Given the description of an element on the screen output the (x, y) to click on. 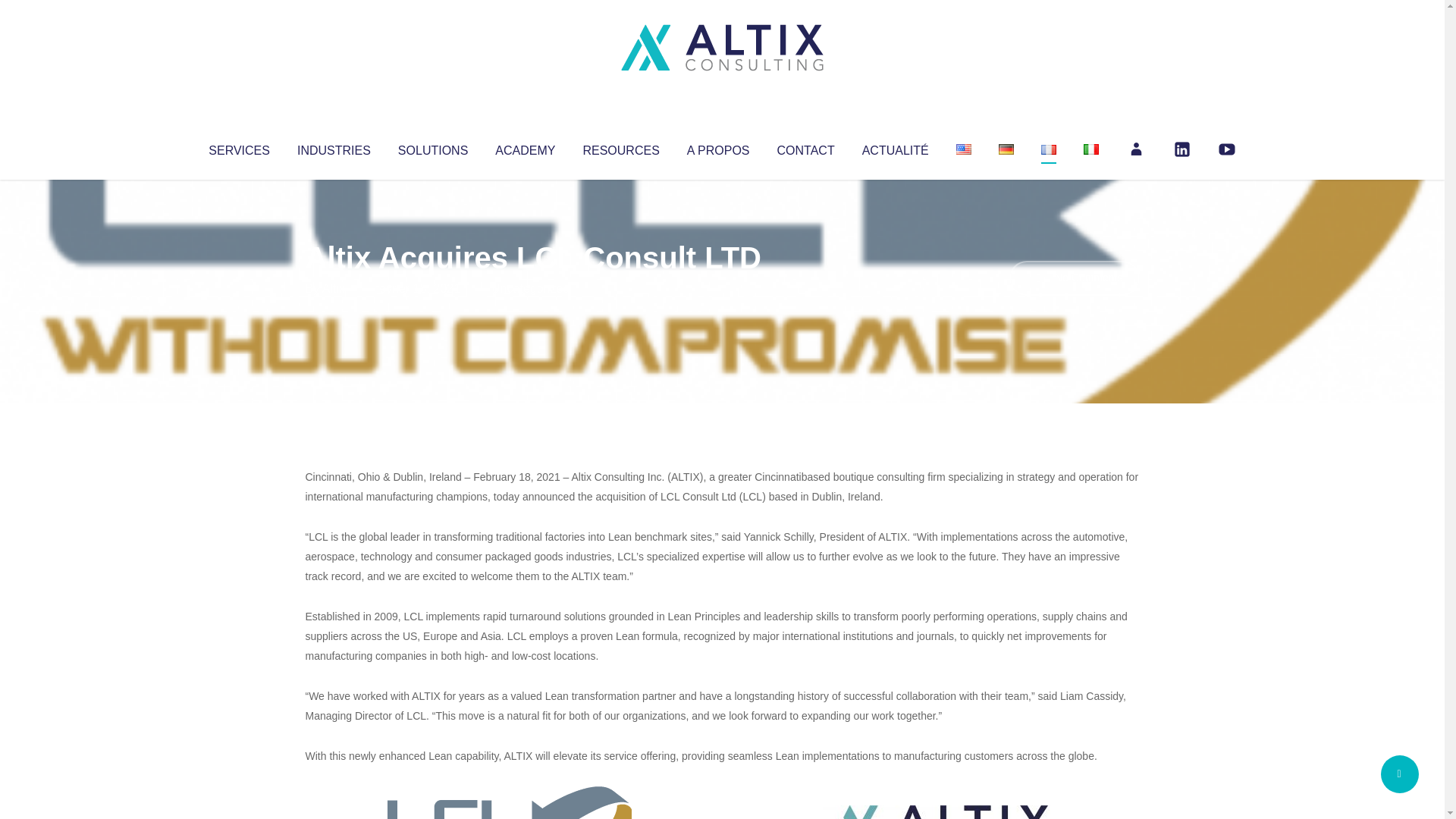
Altix (333, 287)
ACADEMY (524, 146)
INDUSTRIES (334, 146)
Uncategorized (530, 287)
SERVICES (238, 146)
SOLUTIONS (432, 146)
RESOURCES (620, 146)
Articles par Altix (333, 287)
A PROPOS (718, 146)
No Comments (1073, 278)
